Given the description of an element on the screen output the (x, y) to click on. 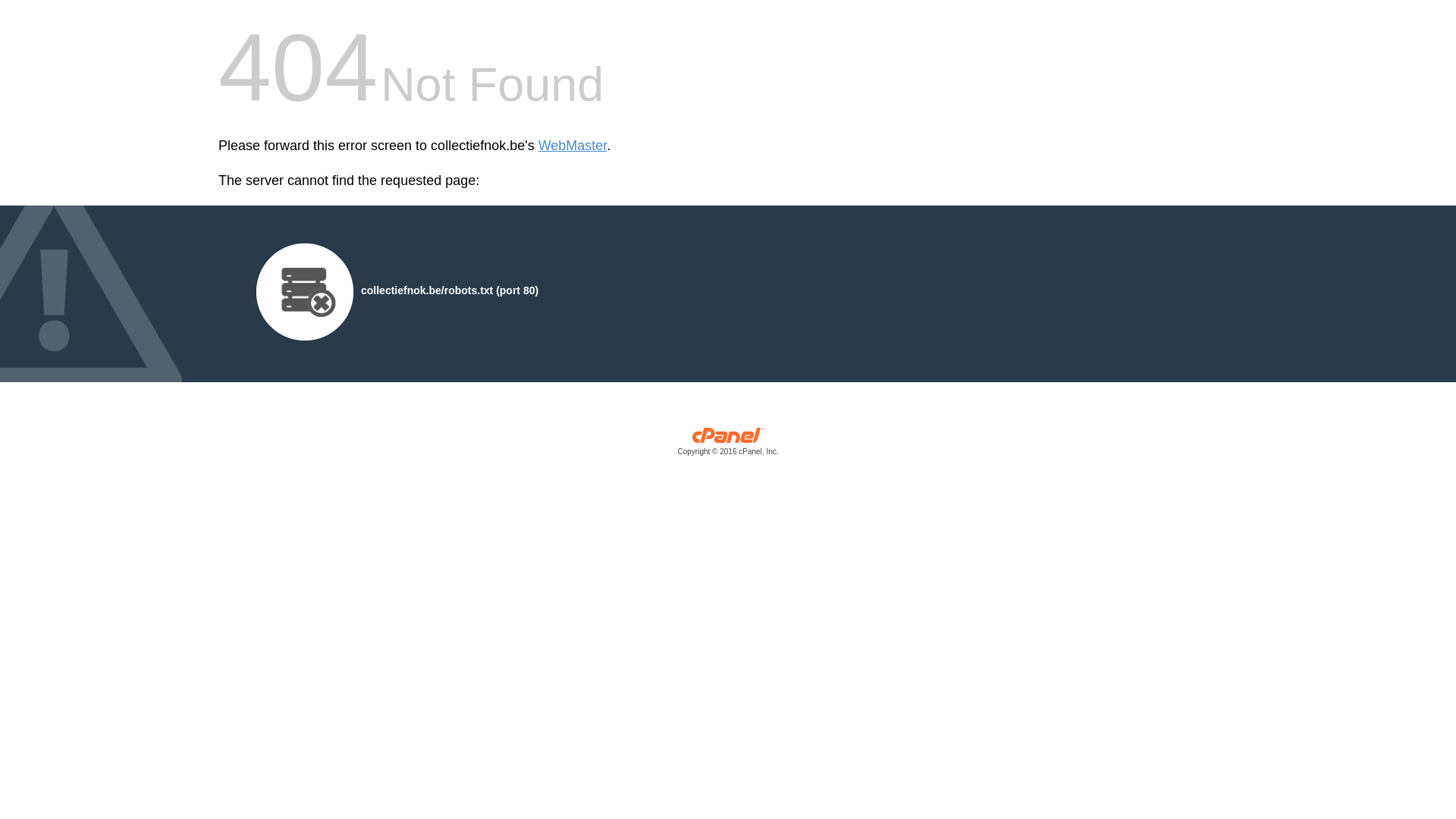
WebMaster Element type: text (572, 145)
